Given the description of an element on the screen output the (x, y) to click on. 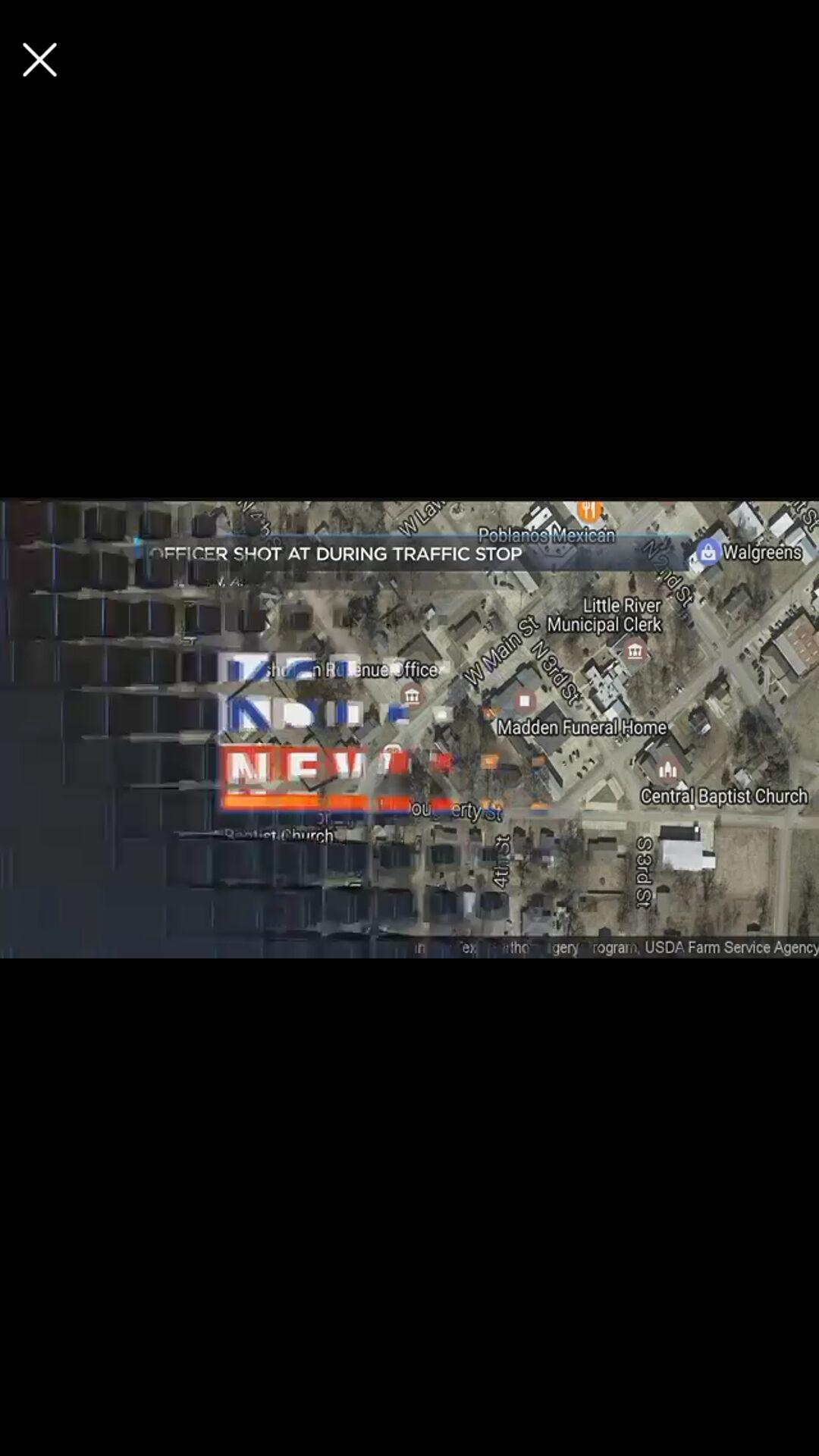
close option (39, 59)
